Given the description of an element on the screen output the (x, y) to click on. 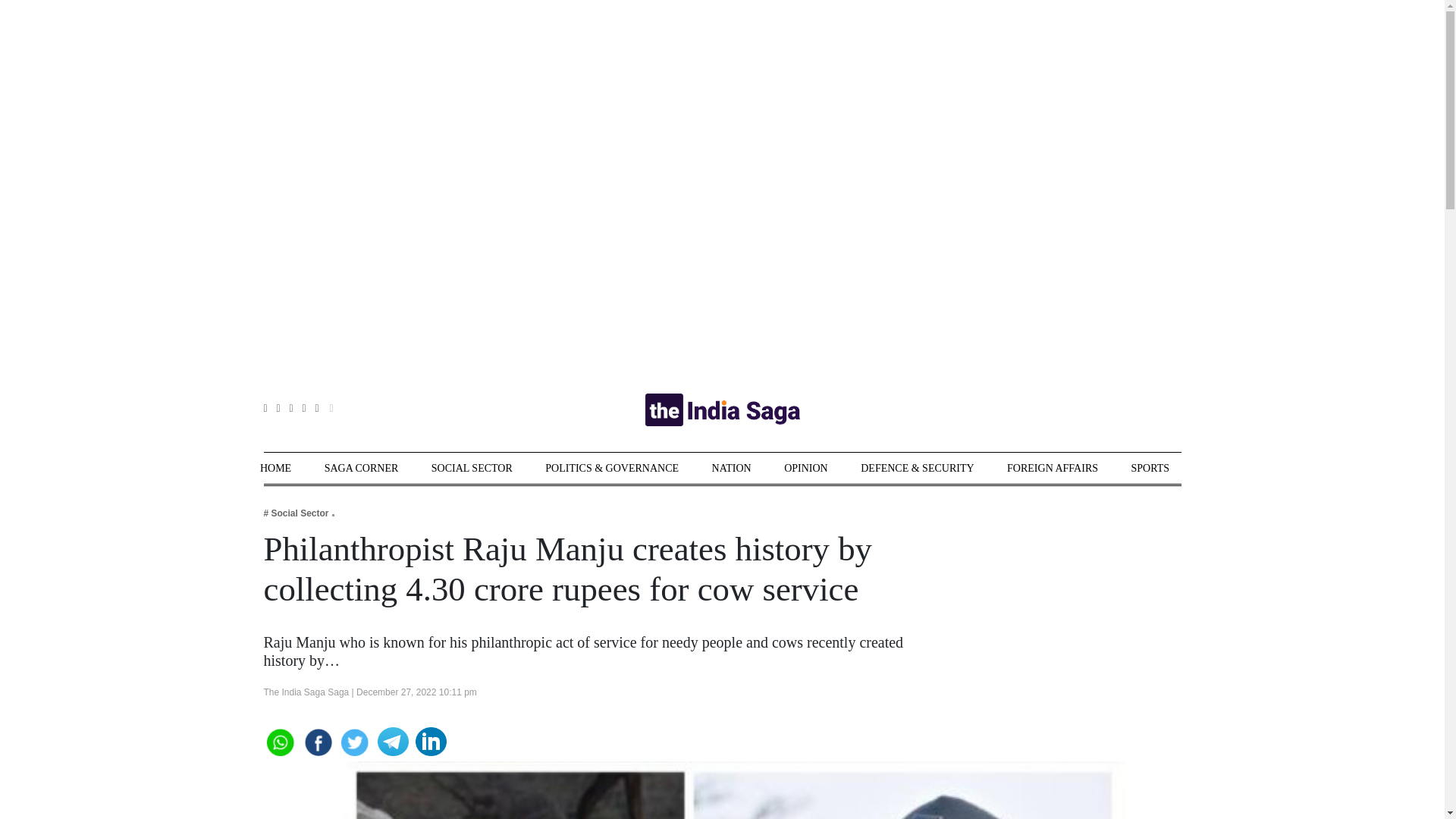
SOCIAL SECTOR (471, 468)
Share on Telegram (393, 740)
NATION (731, 468)
FOREIGN AFFAIRS (1052, 468)
Share on Twitter (355, 740)
SAGA CORNER (361, 468)
Share on Facebook (317, 740)
Share on Linkedin (430, 740)
OPINION (806, 468)
SPORTS (1150, 468)
